Given the description of an element on the screen output the (x, y) to click on. 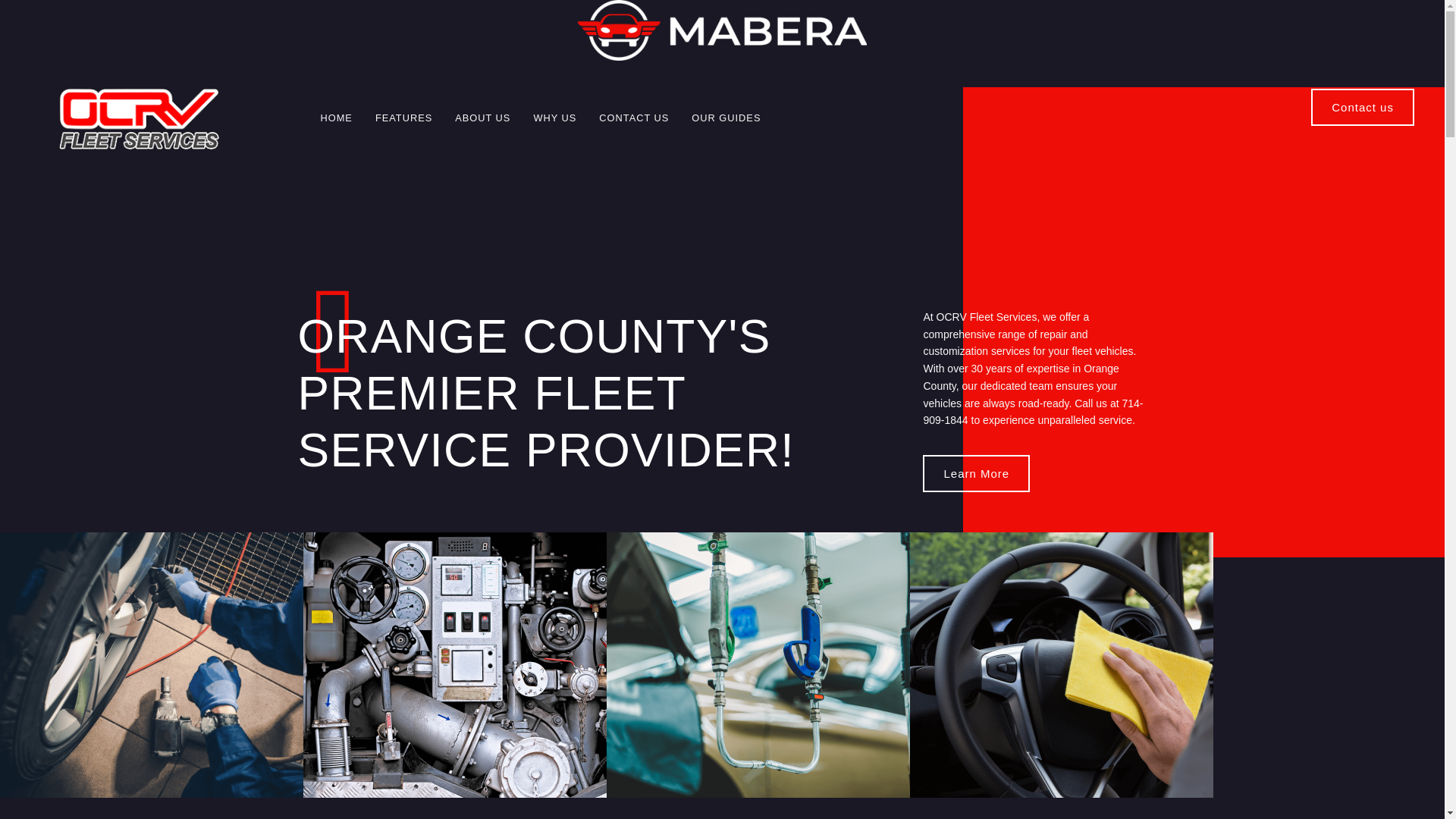
HOME (335, 118)
FEATURES (404, 118)
CONTACT US (633, 118)
Contact us (1362, 107)
Learn More (976, 473)
OUR GUIDES (725, 118)
WHY US (554, 118)
Home (722, 30)
ABOUT US (482, 118)
ocrv services logo (139, 118)
